Given the description of an element on the screen output the (x, y) to click on. 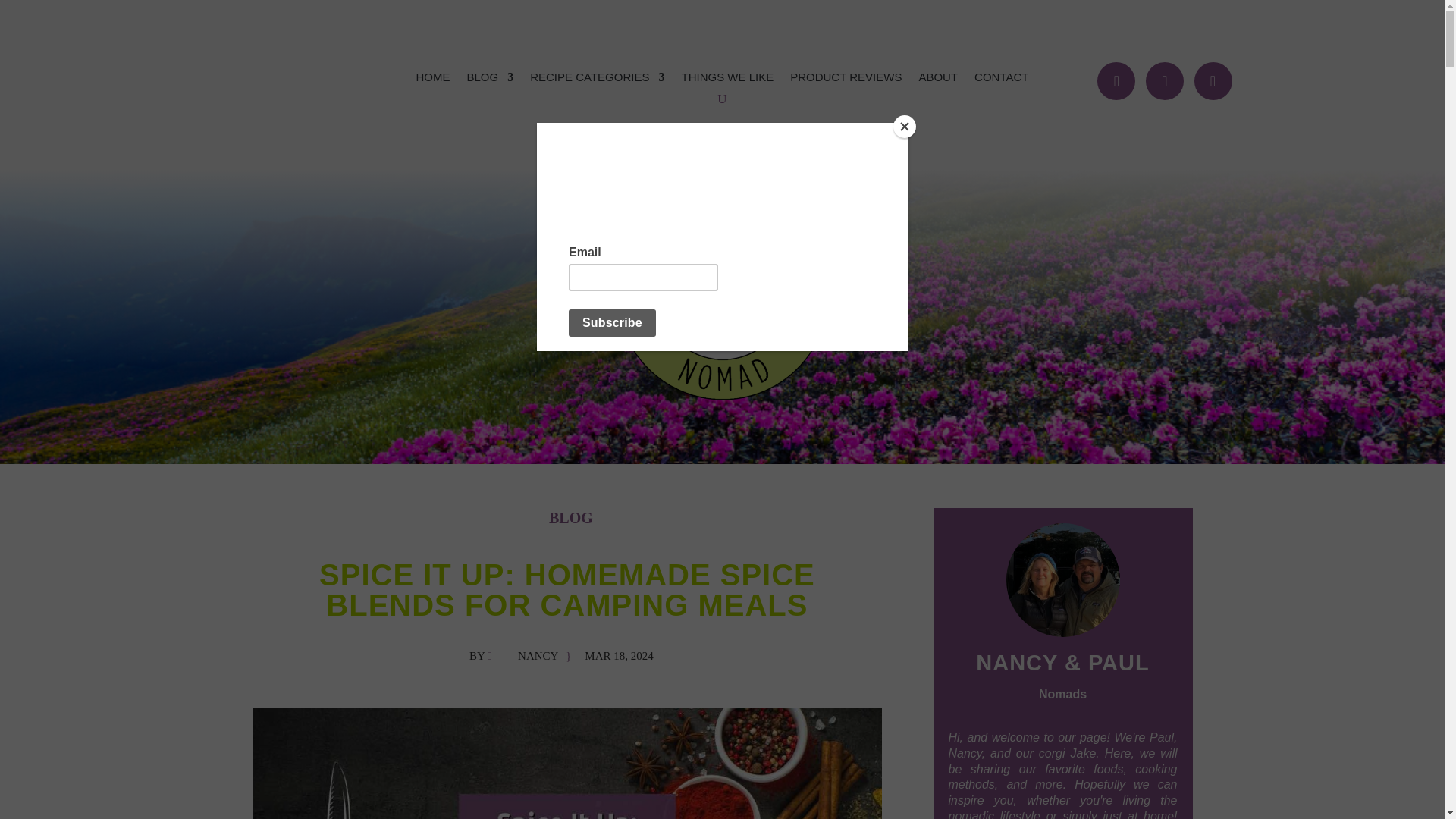
CONTACT (1000, 80)
THINGS WE LIKE (727, 80)
ABOUT (938, 80)
BLOG (490, 80)
RECIPE CATEGORIES (596, 80)
HOME (432, 80)
PRODUCT REVIEWS (845, 80)
Posts by Nancy (537, 655)
